Given the description of an element on the screen output the (x, y) to click on. 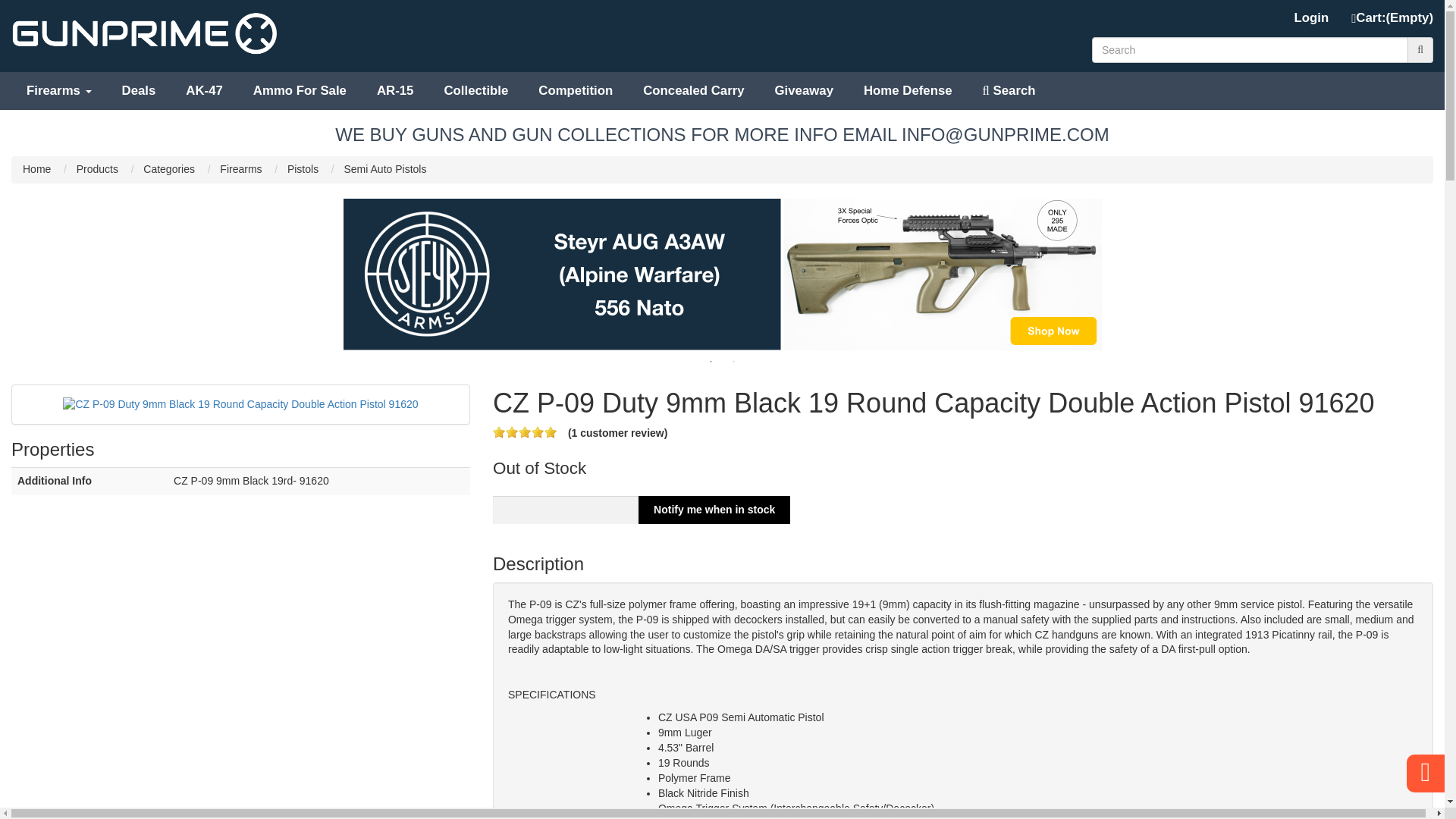
Deals (138, 90)
4 stars (537, 431)
2 stars (511, 431)
Collectible (475, 90)
Notify me when in stock (714, 510)
5 stars (550, 431)
Ammo For Sale (299, 90)
Login (1311, 17)
Giveaway (804, 90)
1 stars (499, 431)
Home Defense (908, 90)
Firearms (58, 90)
AR-15 (395, 90)
Concealed Carry (692, 90)
Search (1009, 90)
